Given the description of an element on the screen output the (x, y) to click on. 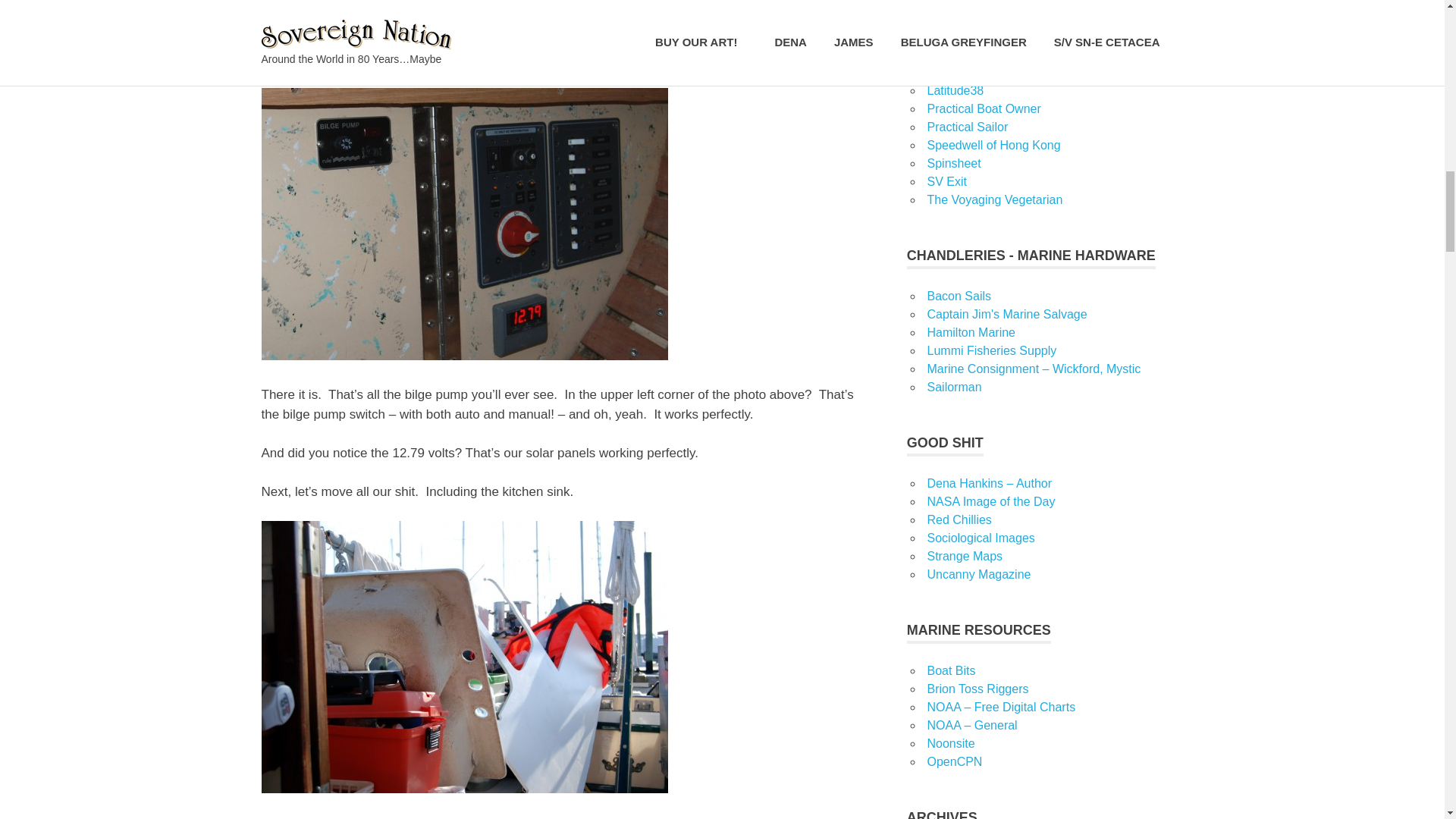
TheShit (463, 656)
Switch (463, 223)
